Given the description of an element on the screen output the (x, y) to click on. 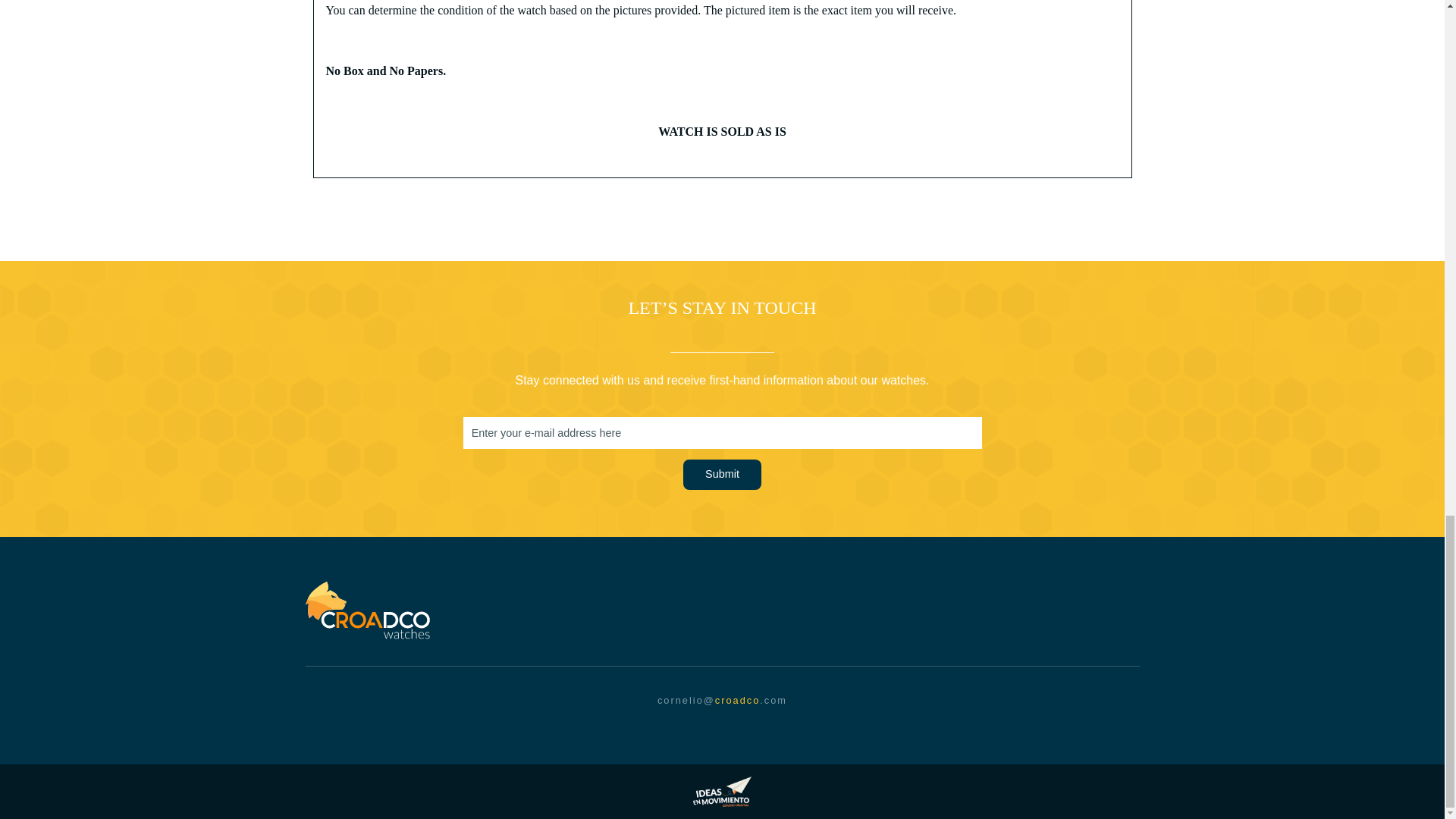
Submit (721, 474)
